Given the description of an element on the screen output the (x, y) to click on. 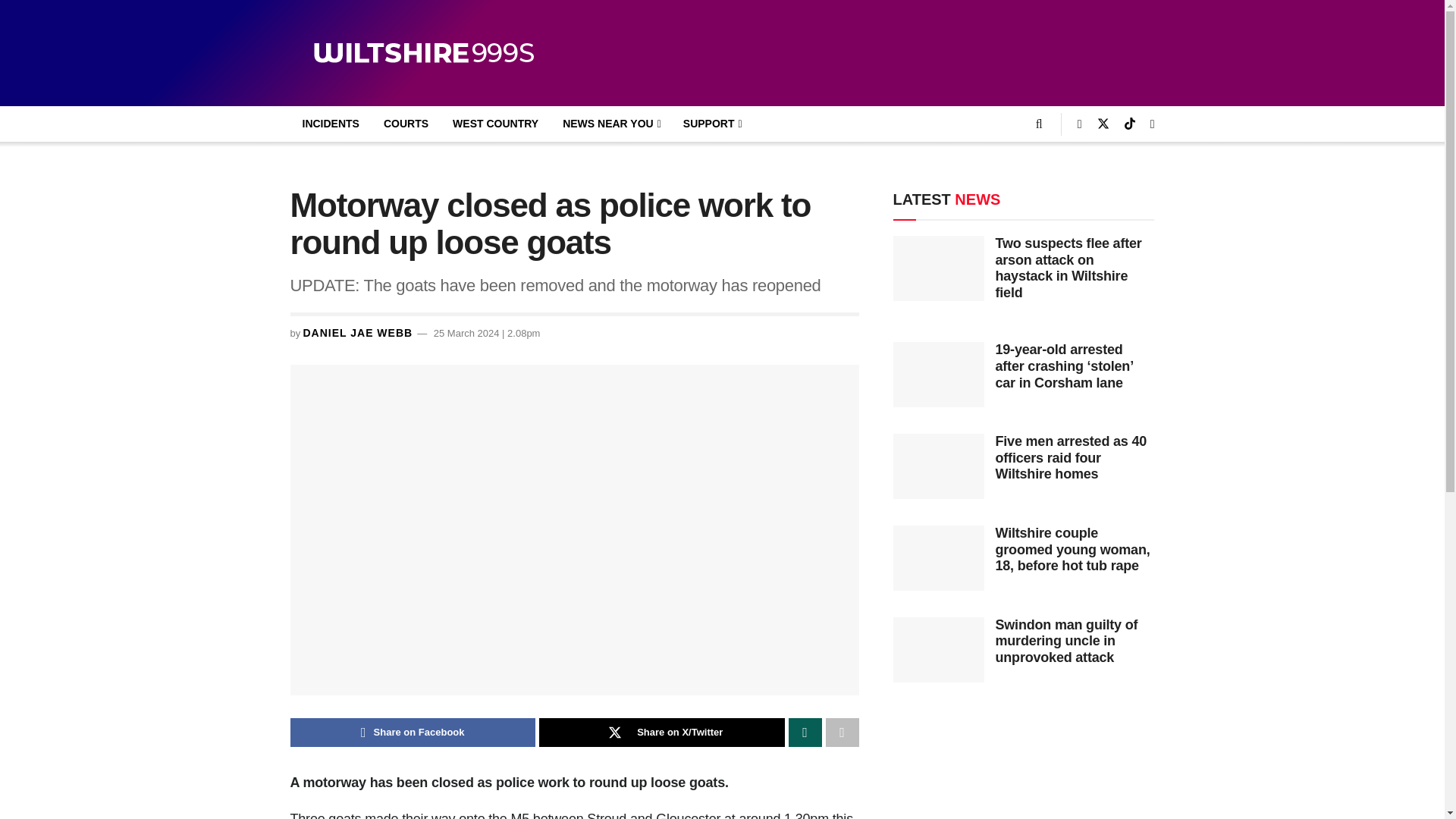
WEST COUNTRY (495, 123)
INCIDENTS (330, 123)
Share on Facebook (412, 732)
COURTS (406, 123)
SUPPORT (711, 123)
DANIEL JAE WEBB (357, 331)
NEWS NEAR YOU (610, 123)
